Given the description of an element on the screen output the (x, y) to click on. 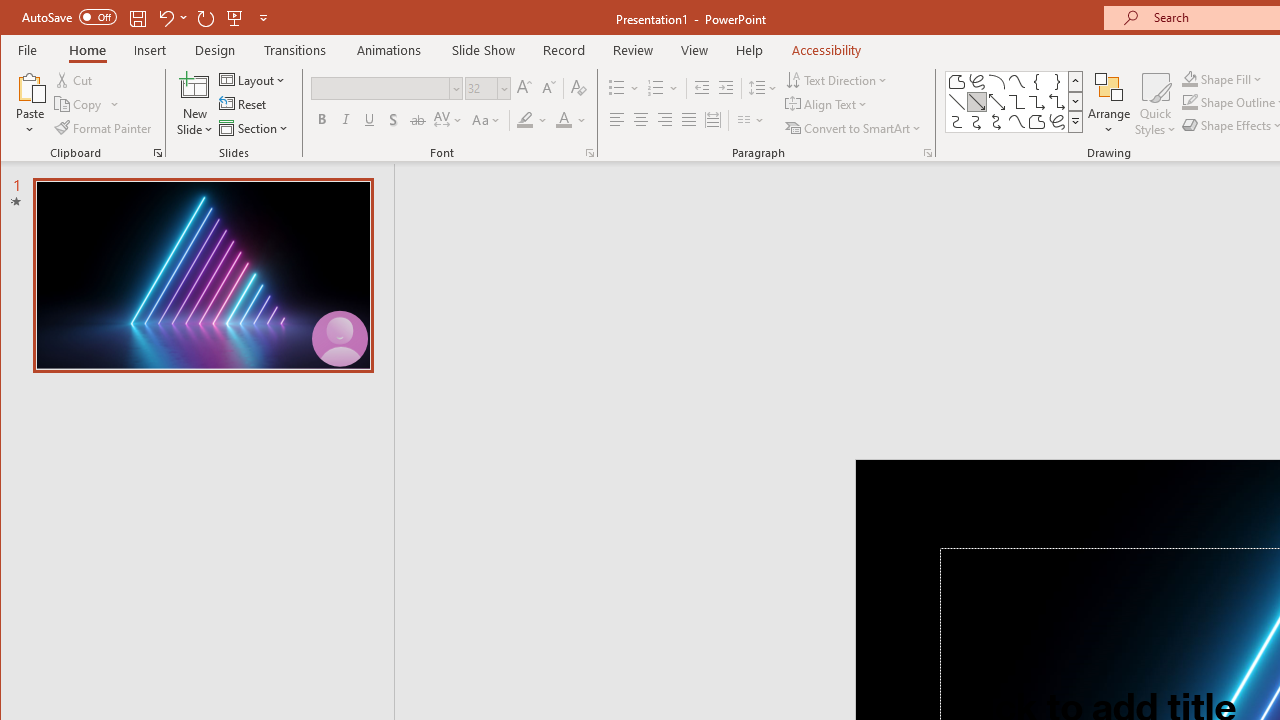
Connector: Curved Double-Arrow (996, 121)
